Given the description of an element on the screen output the (x, y) to click on. 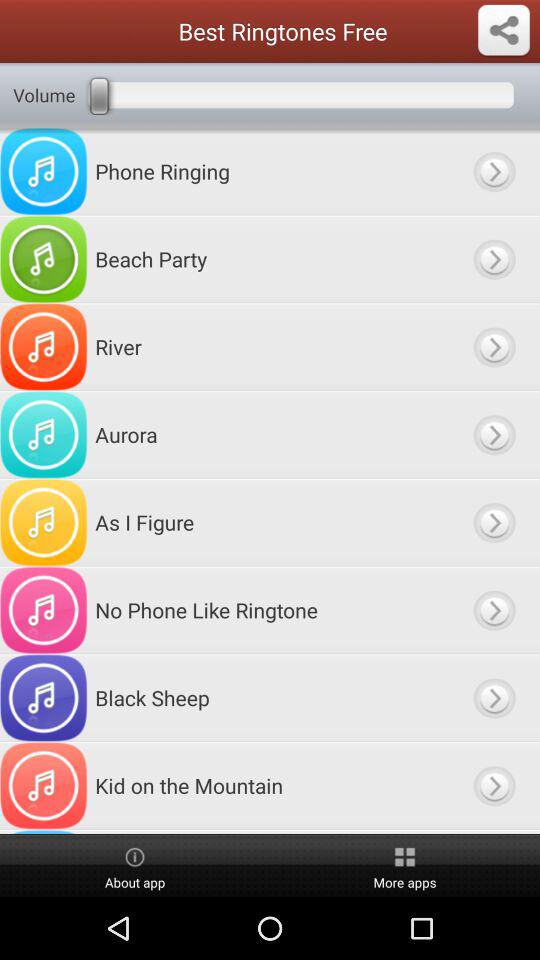
open river (494, 346)
